Given the description of an element on the screen output the (x, y) to click on. 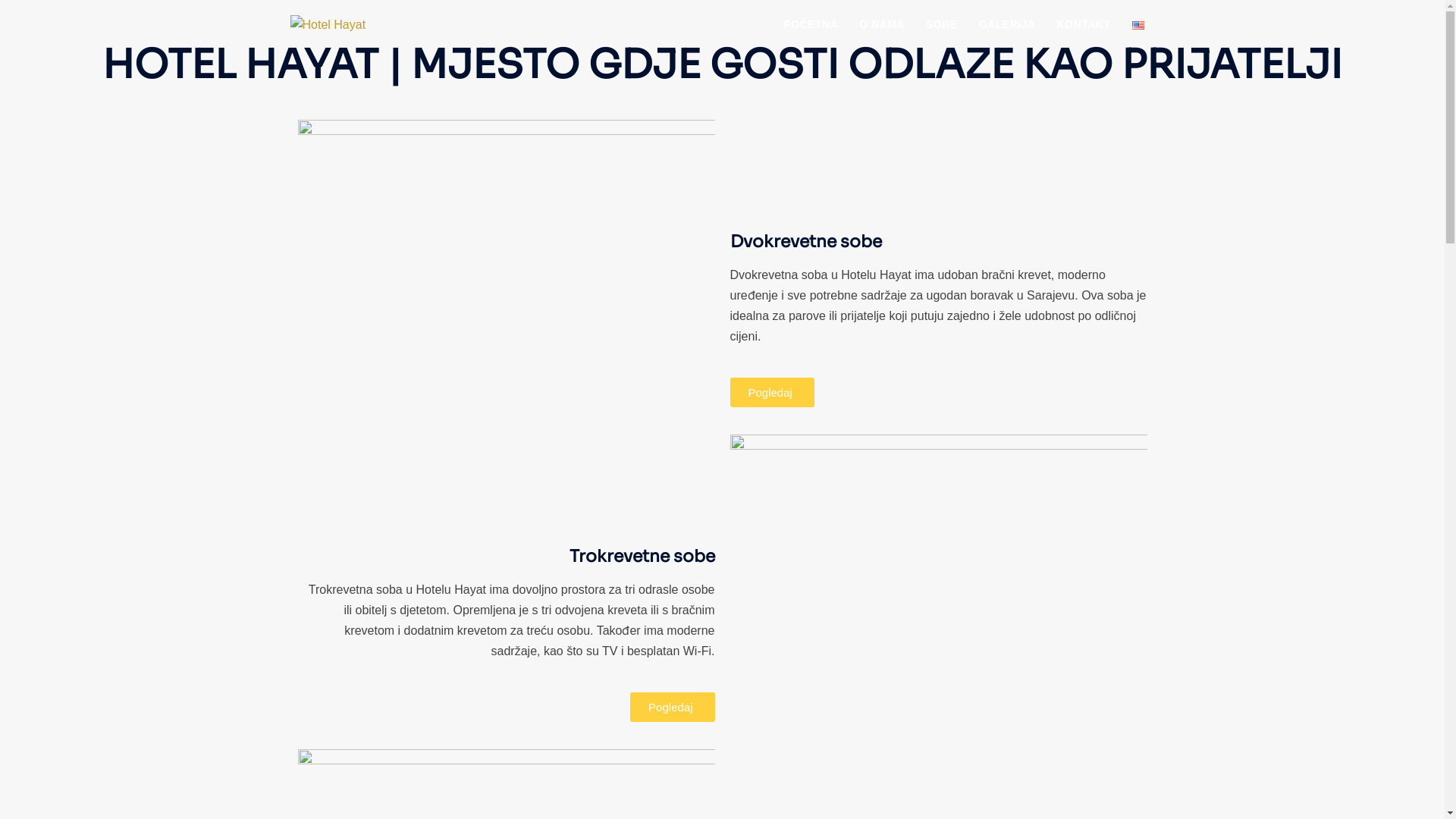
KONTAKT Element type: text (1083, 25)
SOBE Element type: text (941, 25)
Hotel Hayat Element type: hover (327, 24)
GALERIJA Element type: text (1007, 25)
O NAMA Element type: text (881, 25)
Pogledaj Element type: text (672, 706)
Pogledaj Element type: text (771, 392)
